Given the description of an element on the screen output the (x, y) to click on. 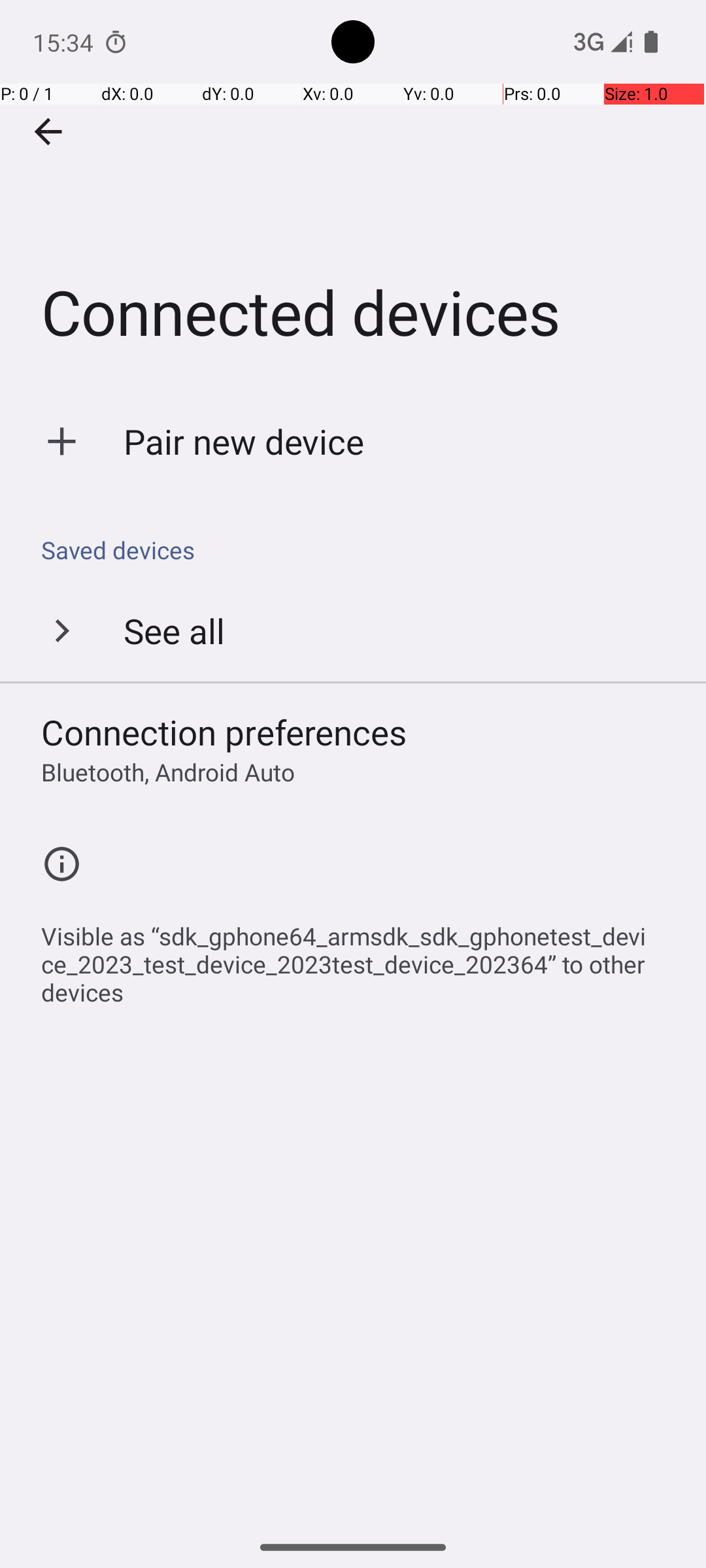
Visible as “sdk_gphone64_armsdk_sdk_gphonetest_device_2023_test_device_2023test_device_202364” to other devices Element type: android.widget.TextView (359, 956)
